Given the description of an element on the screen output the (x, y) to click on. 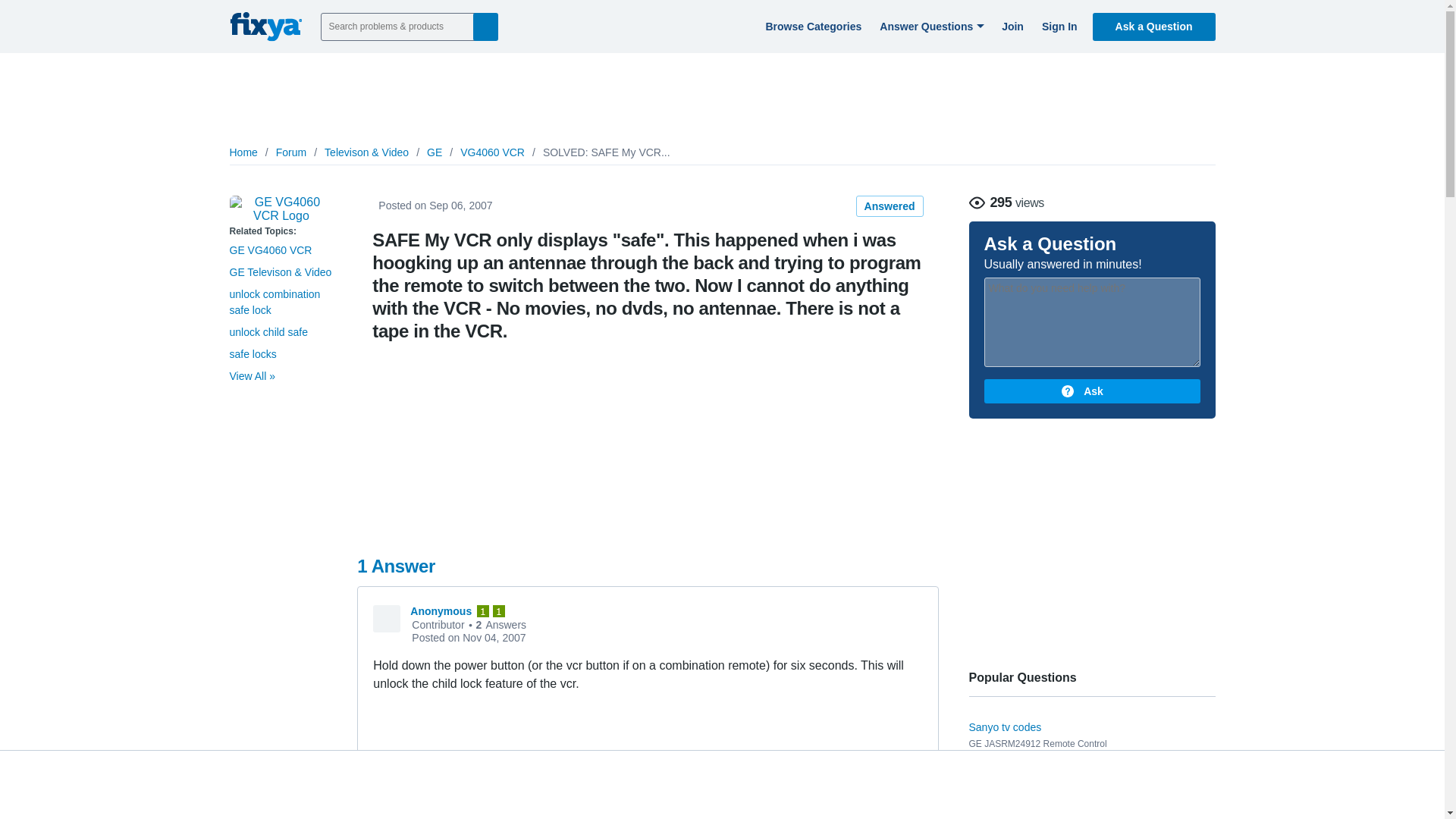
GE VG4060 VCR (280, 208)
unlock child safe (267, 331)
Ask a Question (1154, 26)
Home (242, 152)
unlock combination safe lock (274, 302)
Search Fixya (485, 26)
VG4060 VCR (492, 152)
safe locks (252, 354)
Search Fixya (485, 26)
Forum (290, 152)
GE VG4060 VCR (269, 250)
Search Fixya (485, 26)
Ask (1091, 391)
Browse Categories (810, 26)
Answer Questions (929, 26)
